Given the description of an element on the screen output the (x, y) to click on. 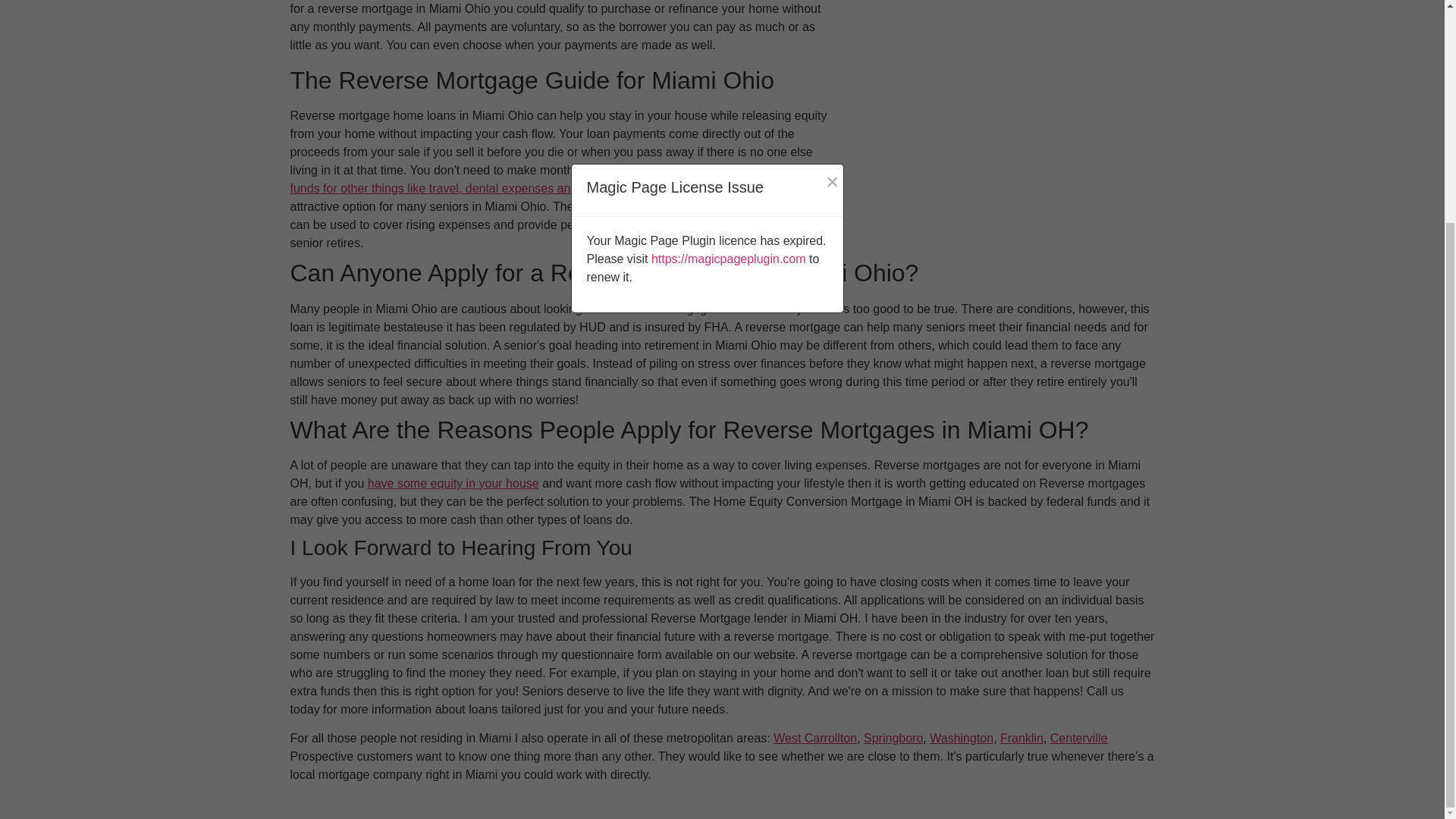
Springboro (893, 738)
Washington (961, 738)
West Carrollton (815, 738)
a home's equity to cash (690, 205)
Centerville (1078, 738)
have some equity in your house (453, 482)
Franklin (1021, 738)
